Given the description of an element on the screen output the (x, y) to click on. 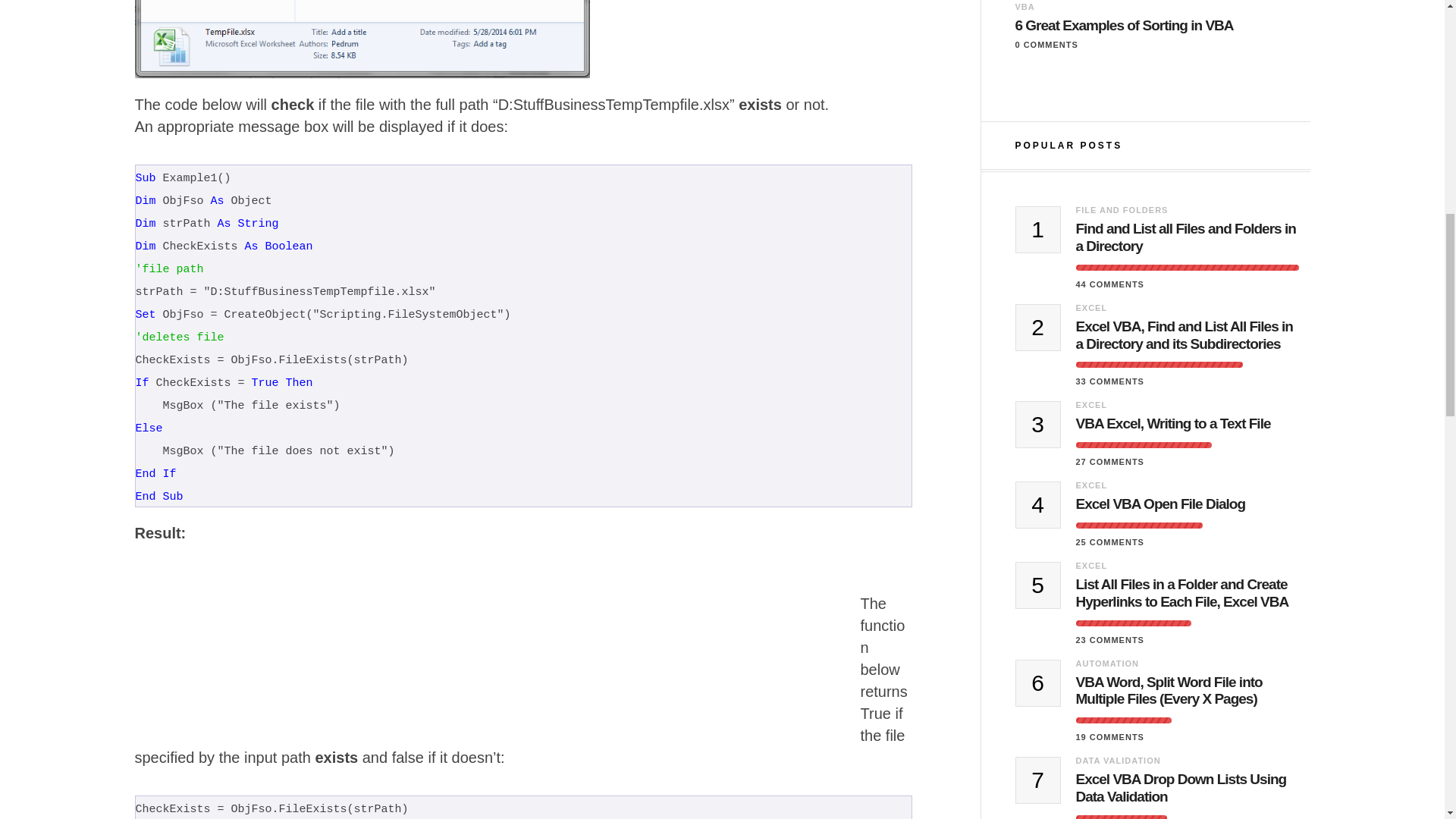
File to check (362, 39)
Result (194, 652)
VBA (1023, 6)
